Given the description of an element on the screen output the (x, y) to click on. 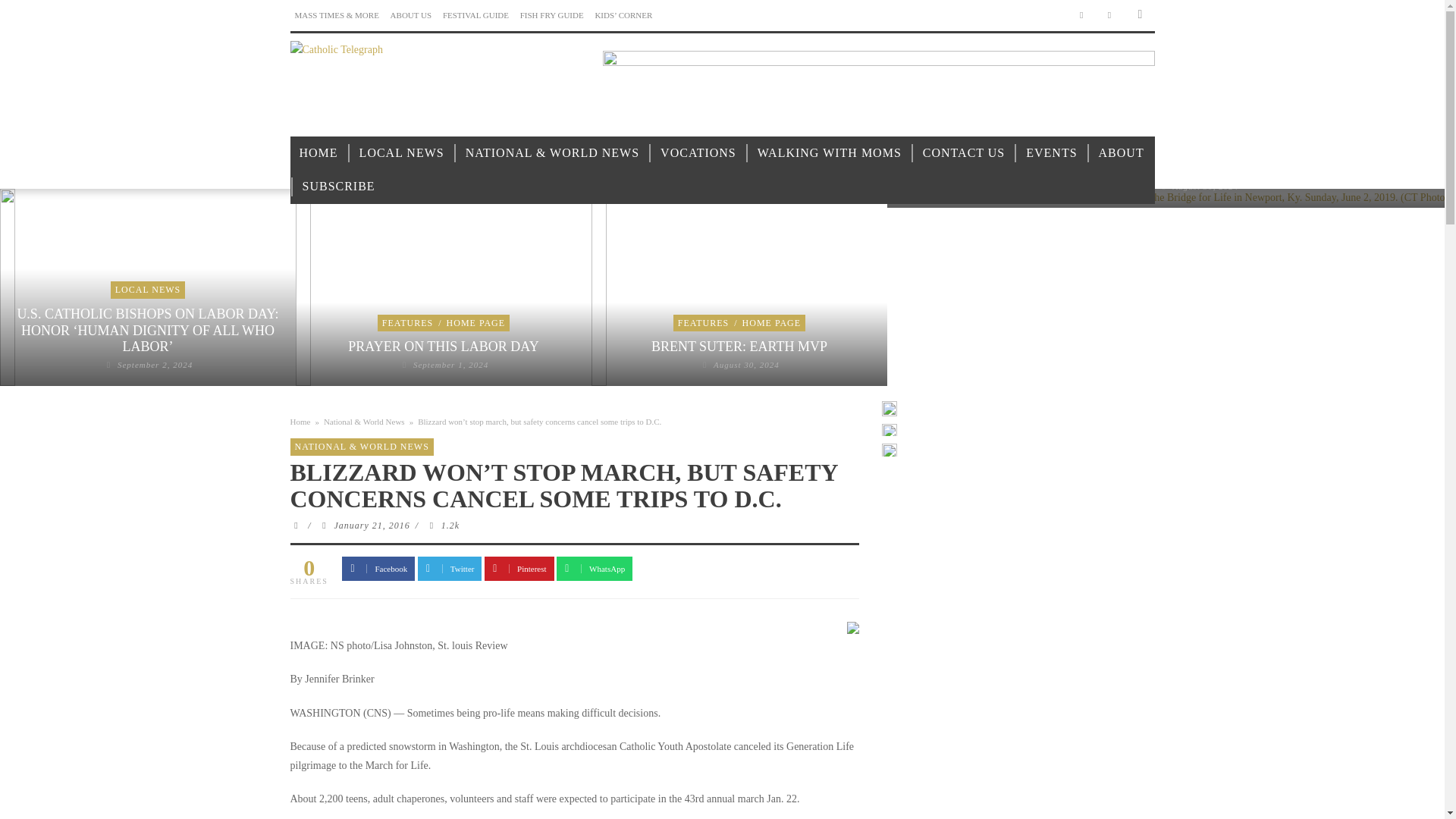
View all posts in Features (703, 322)
Twitter (1110, 15)
FESTIVAL GUIDE (475, 15)
LOCAL NEWS (401, 153)
ABOUT (1121, 153)
Permalink to Prayer on this Labor Day (450, 364)
HOME (317, 153)
View all posts in Local News (148, 289)
SUBSCRIBE (338, 186)
Permalink to Prayer on this Labor Day (442, 346)
